Given the description of an element on the screen output the (x, y) to click on. 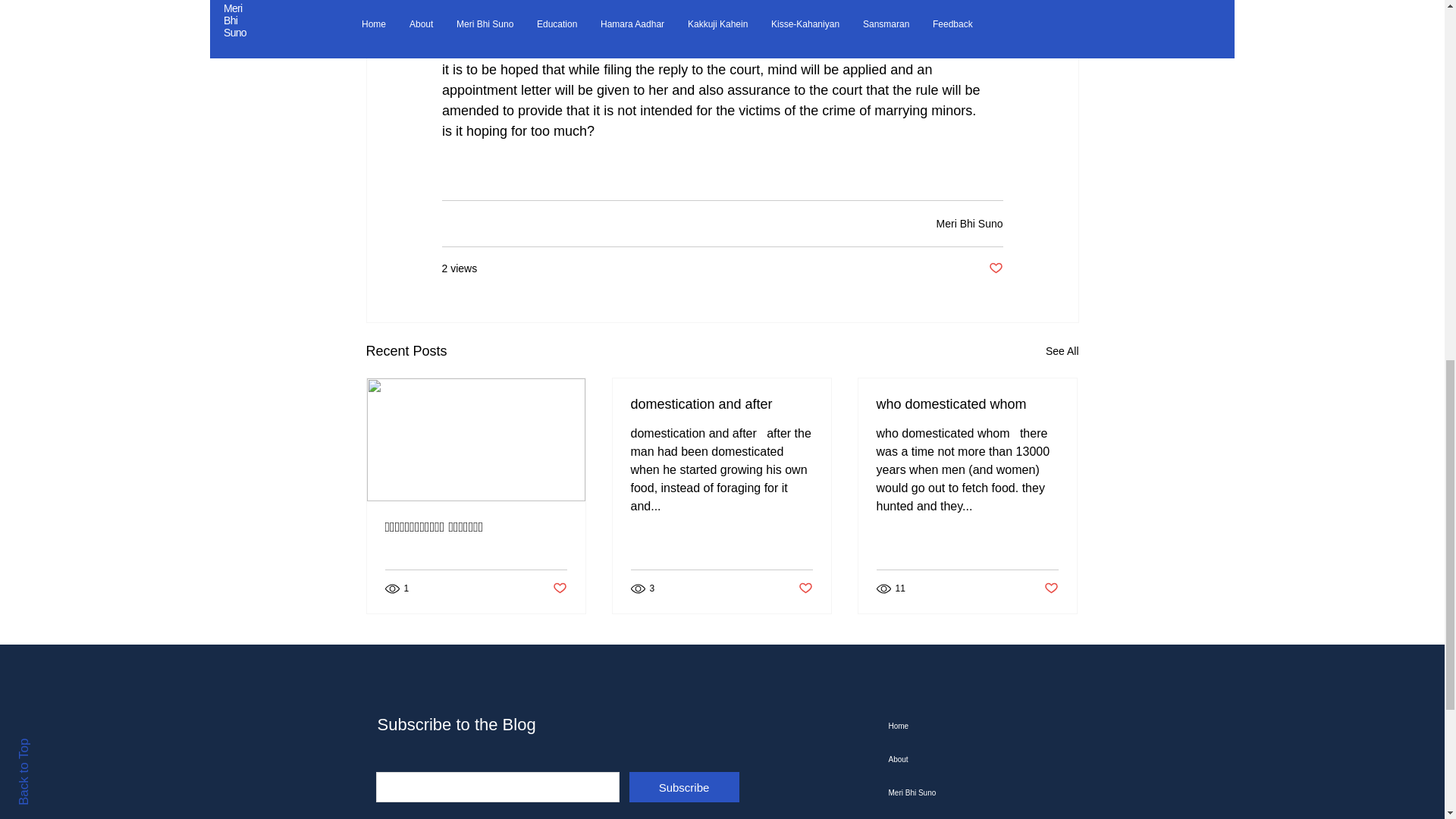
domestication and after (721, 404)
Post not marked as liked (558, 588)
who domesticated whom (967, 404)
See All (1061, 351)
Meri Bhi Suno (969, 223)
Post not marked as liked (1050, 588)
Post not marked as liked (804, 588)
Post not marked as liked (995, 268)
